Given the description of an element on the screen output the (x, y) to click on. 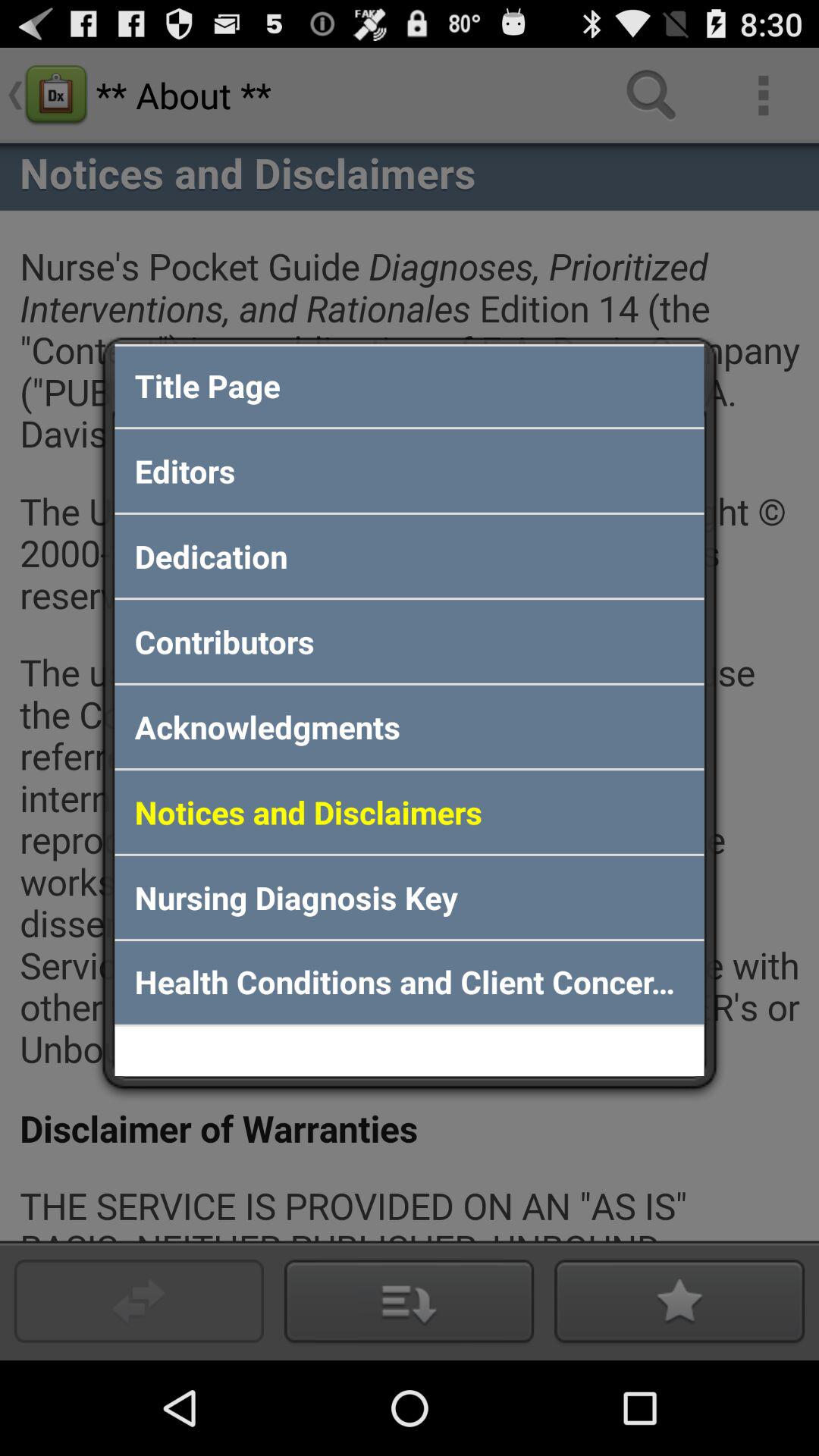
scroll until the contributors app (409, 641)
